Given the description of an element on the screen output the (x, y) to click on. 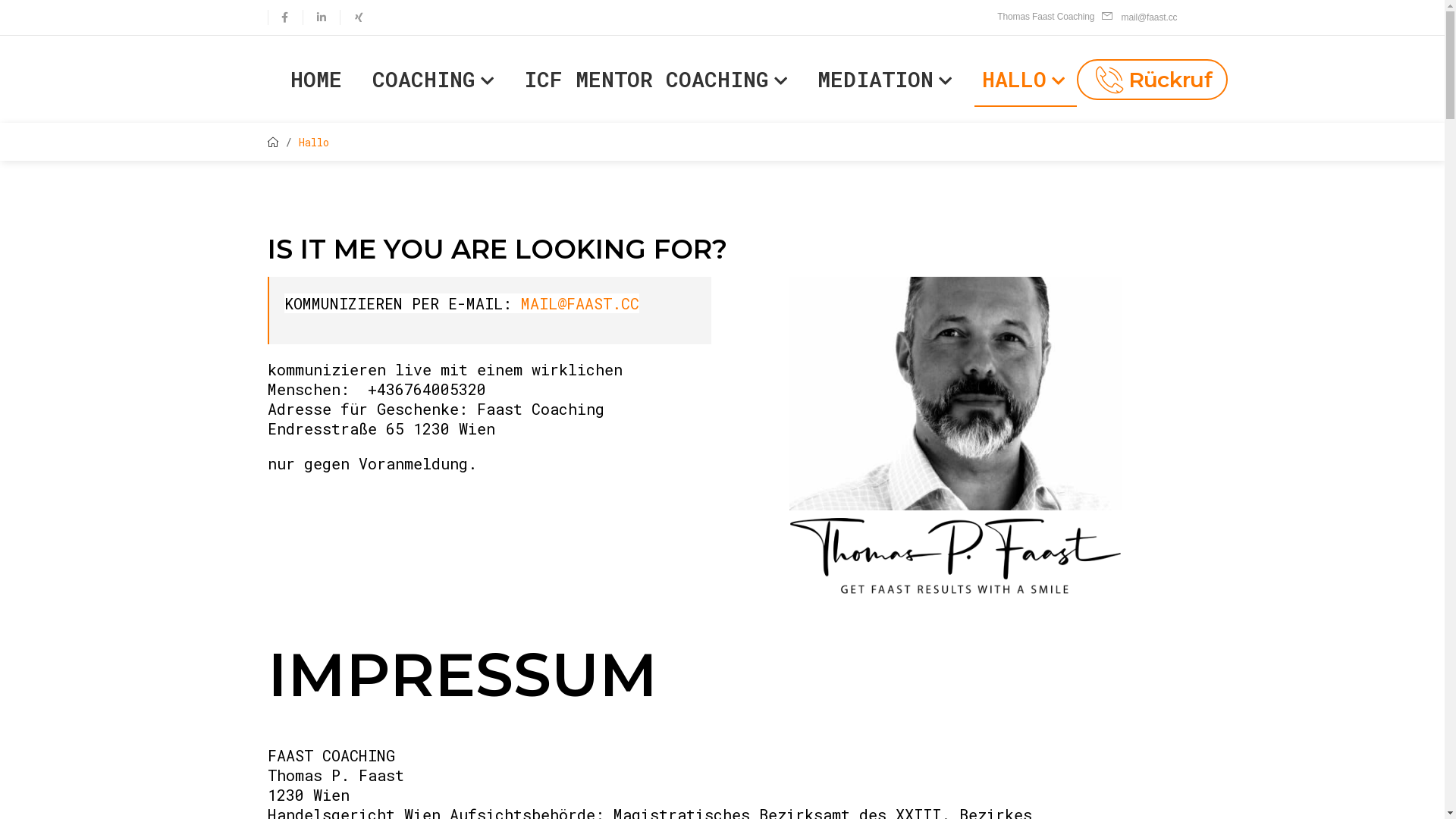
ICF MENTOR COACHING Element type: text (656, 78)
HALLO Element type: text (1024, 78)
COACHING Element type: text (434, 78)
MEDIATION Element type: text (886, 78)
mail@faast.cc Element type: text (1138, 16)
linkedin Element type: hover (321, 16)
facebook Element type: hover (283, 16)
MAIL@FAAST.CC Element type: text (579, 303)
xing Element type: hover (357, 16)
HOME Element type: text (317, 78)
